Given the description of an element on the screen output the (x, y) to click on. 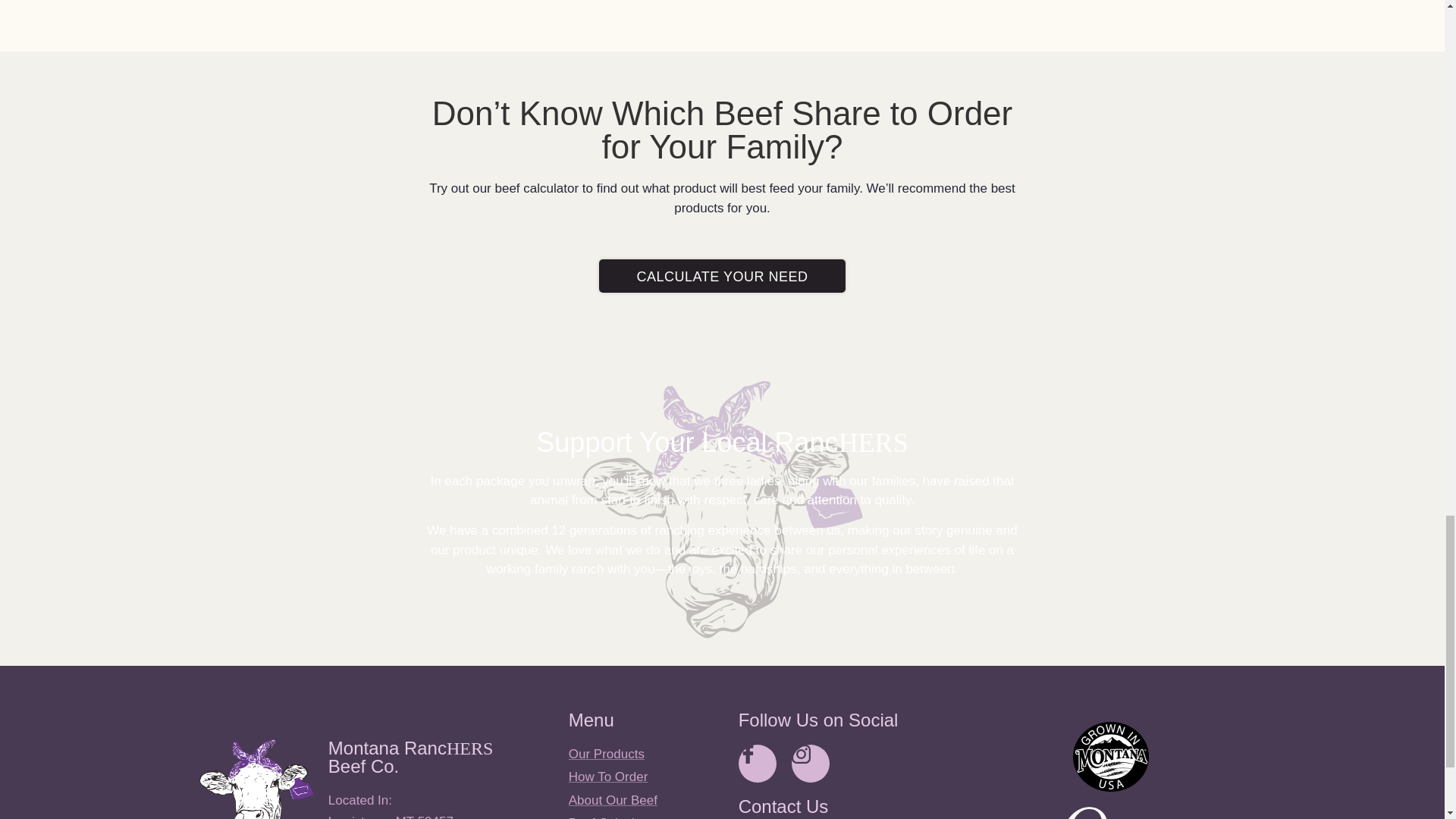
Our Products (646, 754)
Beef Calculator (646, 816)
About Our Beef (646, 800)
How To Order (646, 777)
CALCULATE YOUR NEED (721, 275)
